Given the description of an element on the screen output the (x, y) to click on. 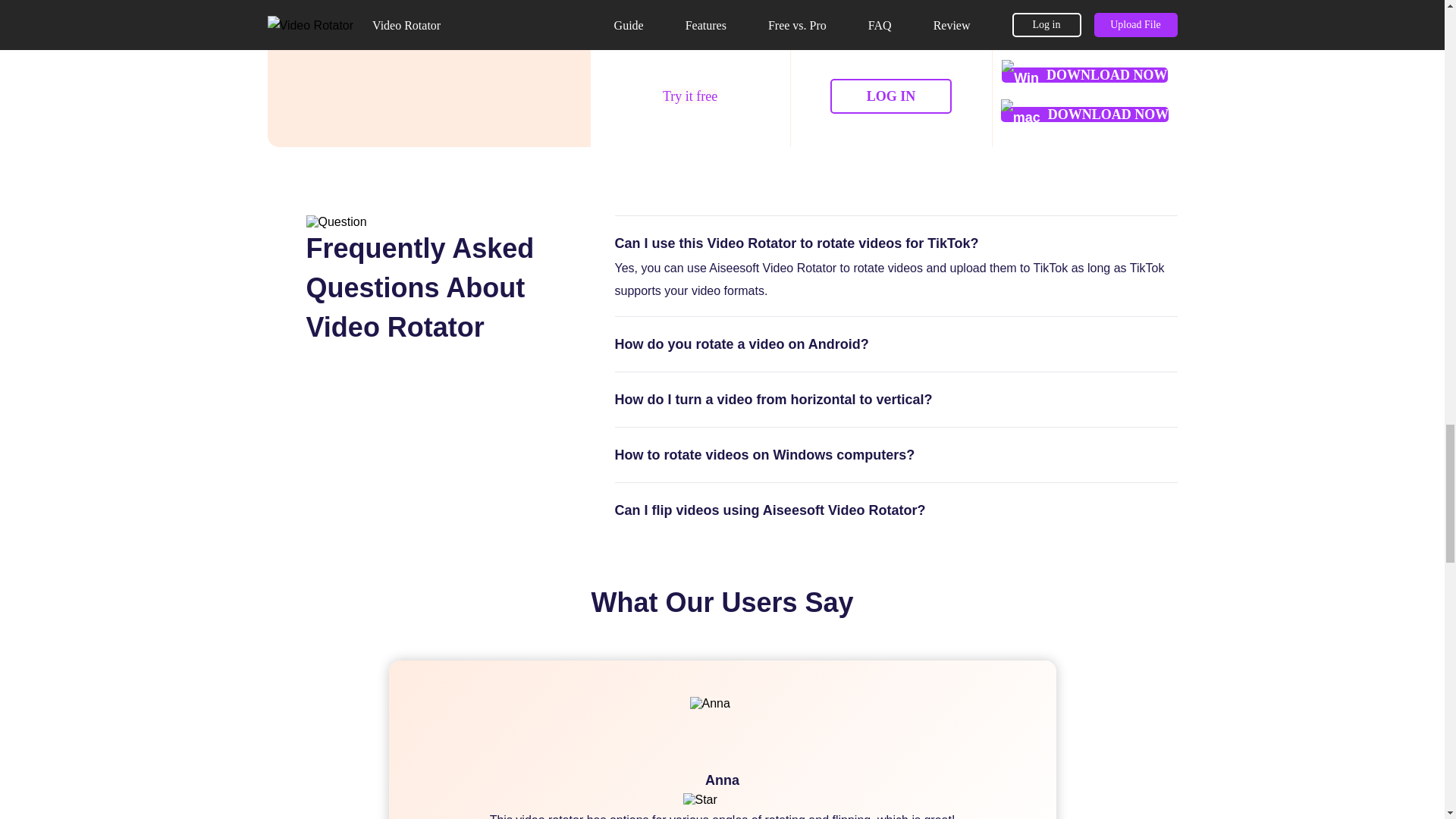
LOG IN (890, 96)
DOWNLOAD NOW (1085, 114)
Try it free (689, 96)
LOG IN (890, 95)
DOWNLOAD NOW (1084, 74)
